Given the description of an element on the screen output the (x, y) to click on. 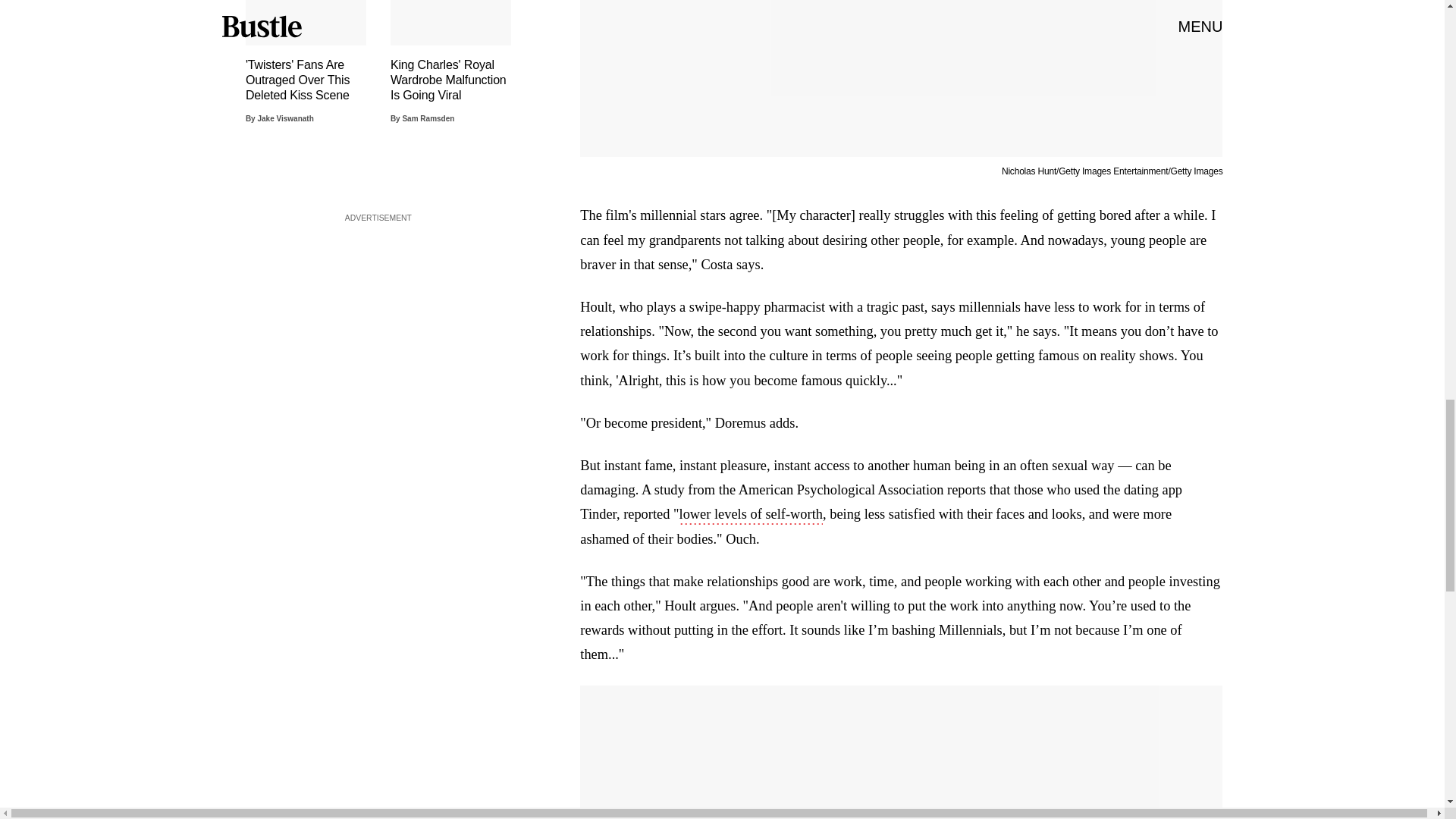
lower levels of self-worth (750, 515)
